Given the description of an element on the screen output the (x, y) to click on. 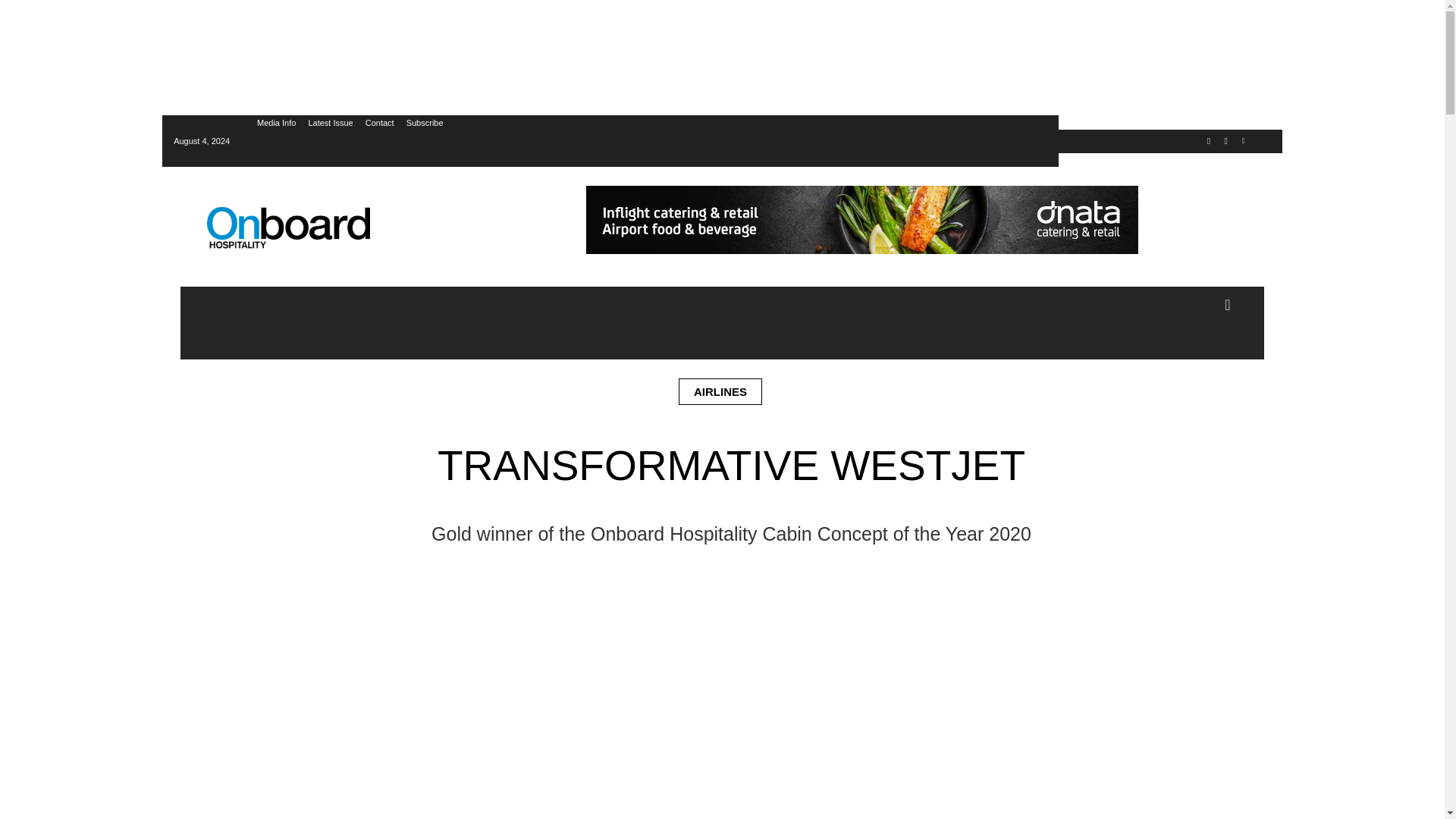
Media Info (276, 122)
Twitter (1208, 140)
Linkedin (1243, 140)
Instagram (1225, 140)
Contact (379, 122)
Latest Issue (329, 122)
Subscribe (425, 122)
